Given the description of an element on the screen output the (x, y) to click on. 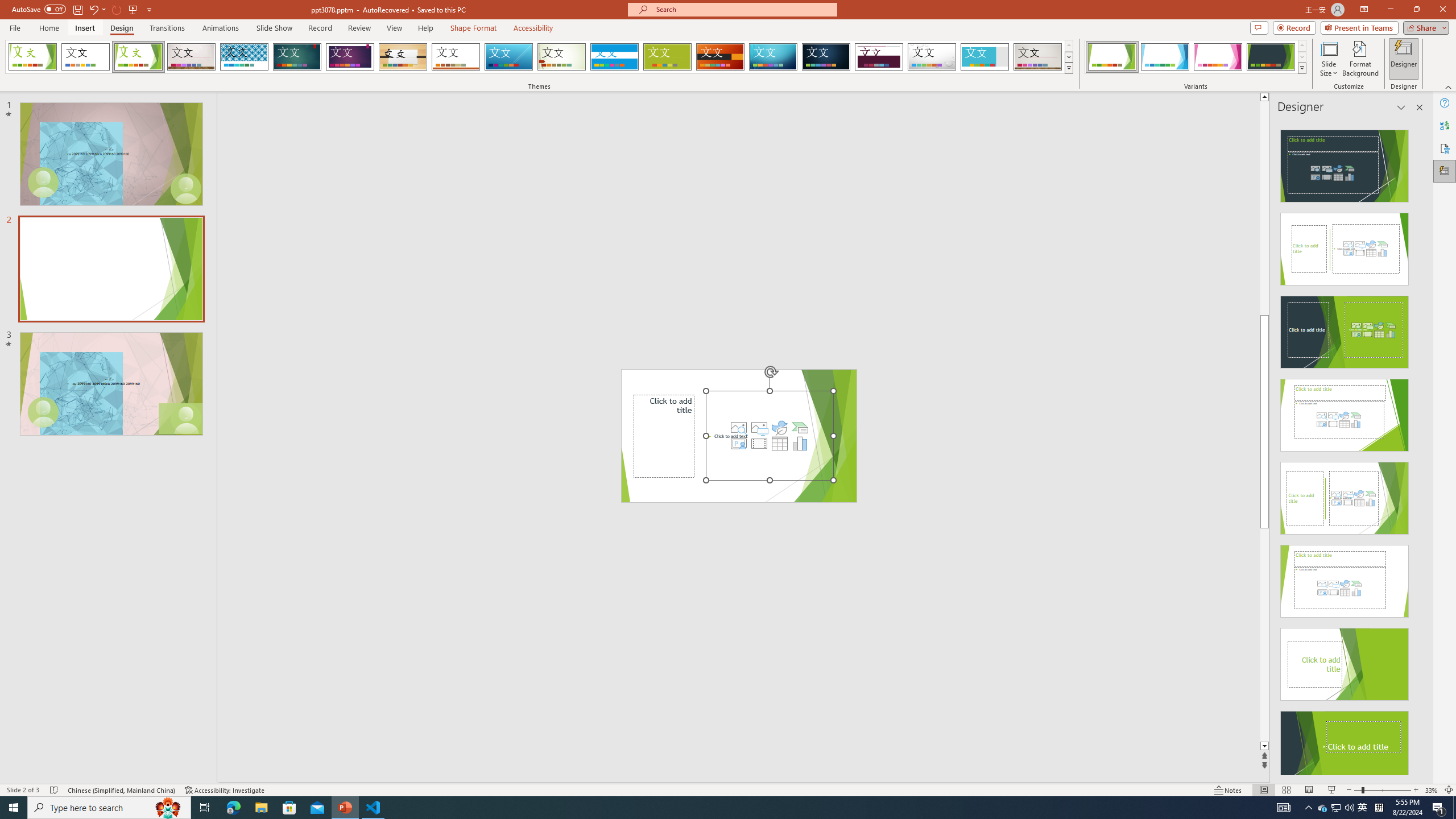
Stock Images (738, 427)
Content Placeholder (769, 435)
Facet Variant 1 (1112, 56)
AutomationID: SlideThemesGallery (539, 56)
